Given the description of an element on the screen output the (x, y) to click on. 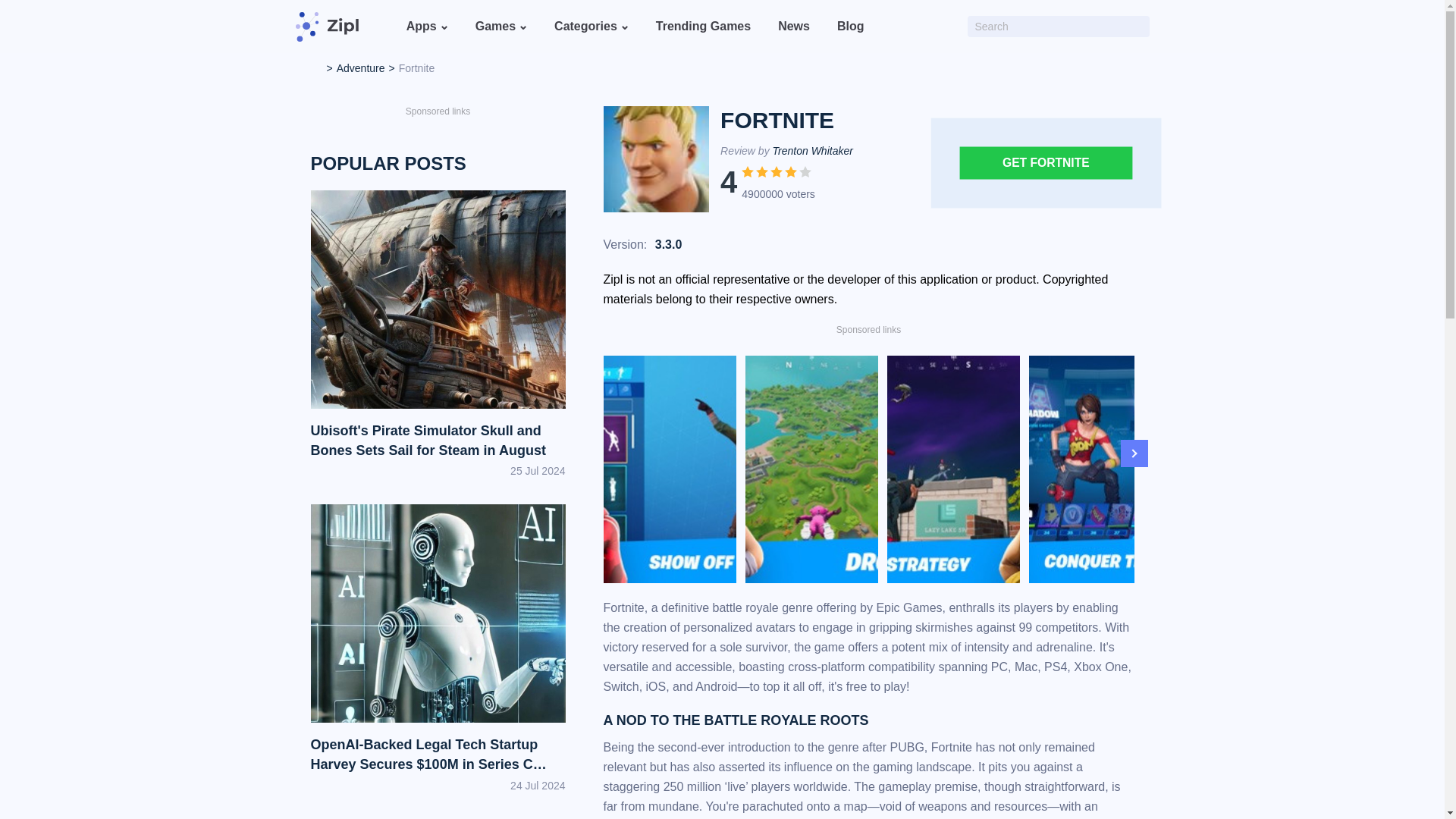
Trending Games (703, 25)
Apps (421, 25)
Games (495, 25)
News (794, 25)
Blog (850, 25)
